Given the description of an element on the screen output the (x, y) to click on. 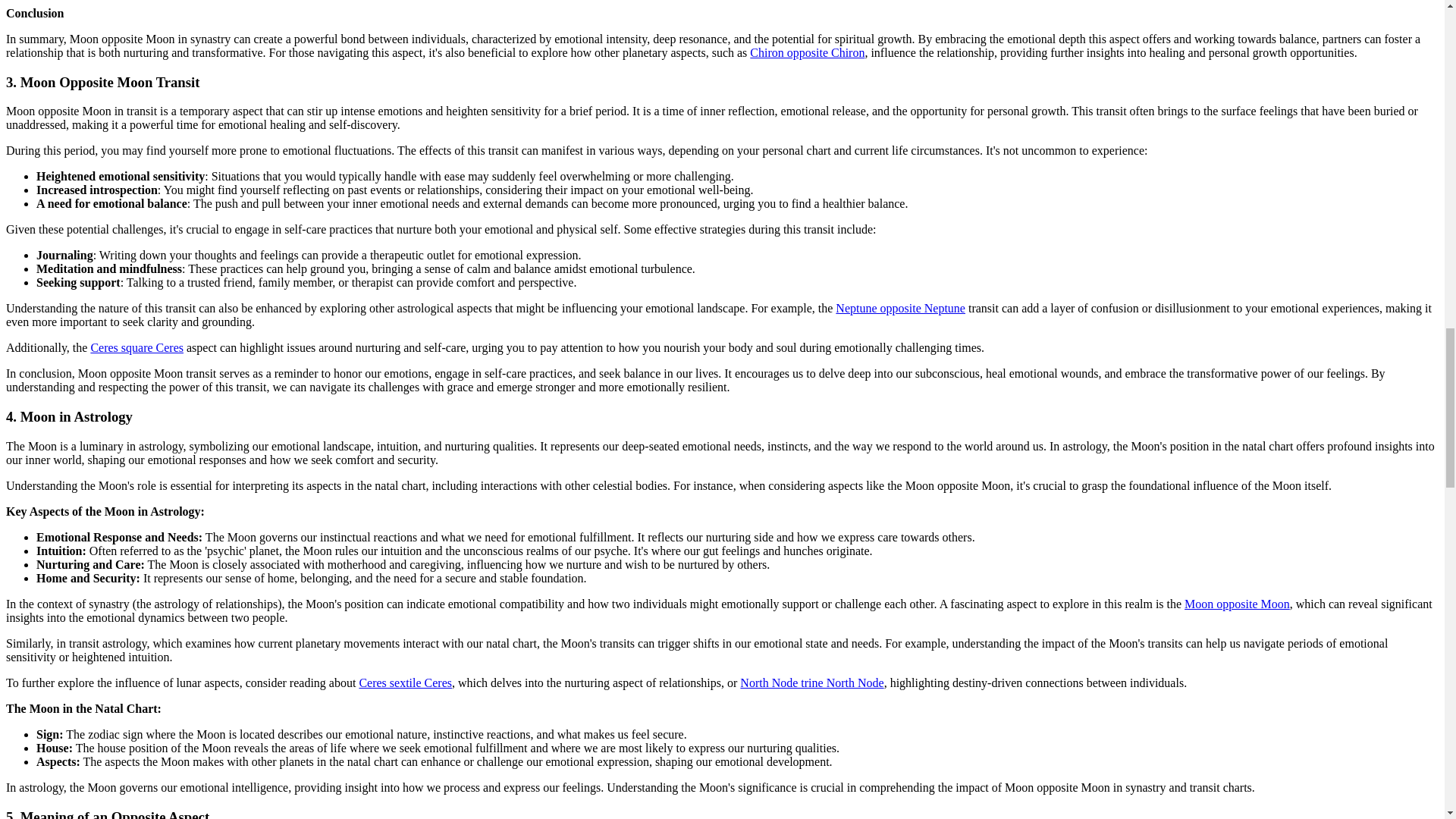
Moon opposite Moon (1237, 603)
North Node trine North Node (811, 682)
Chiron opposite Chiron (806, 51)
Ceres square Ceres (136, 347)
Ceres sextile Ceres (404, 682)
Neptune opposite Neptune (900, 308)
